Given the description of an element on the screen output the (x, y) to click on. 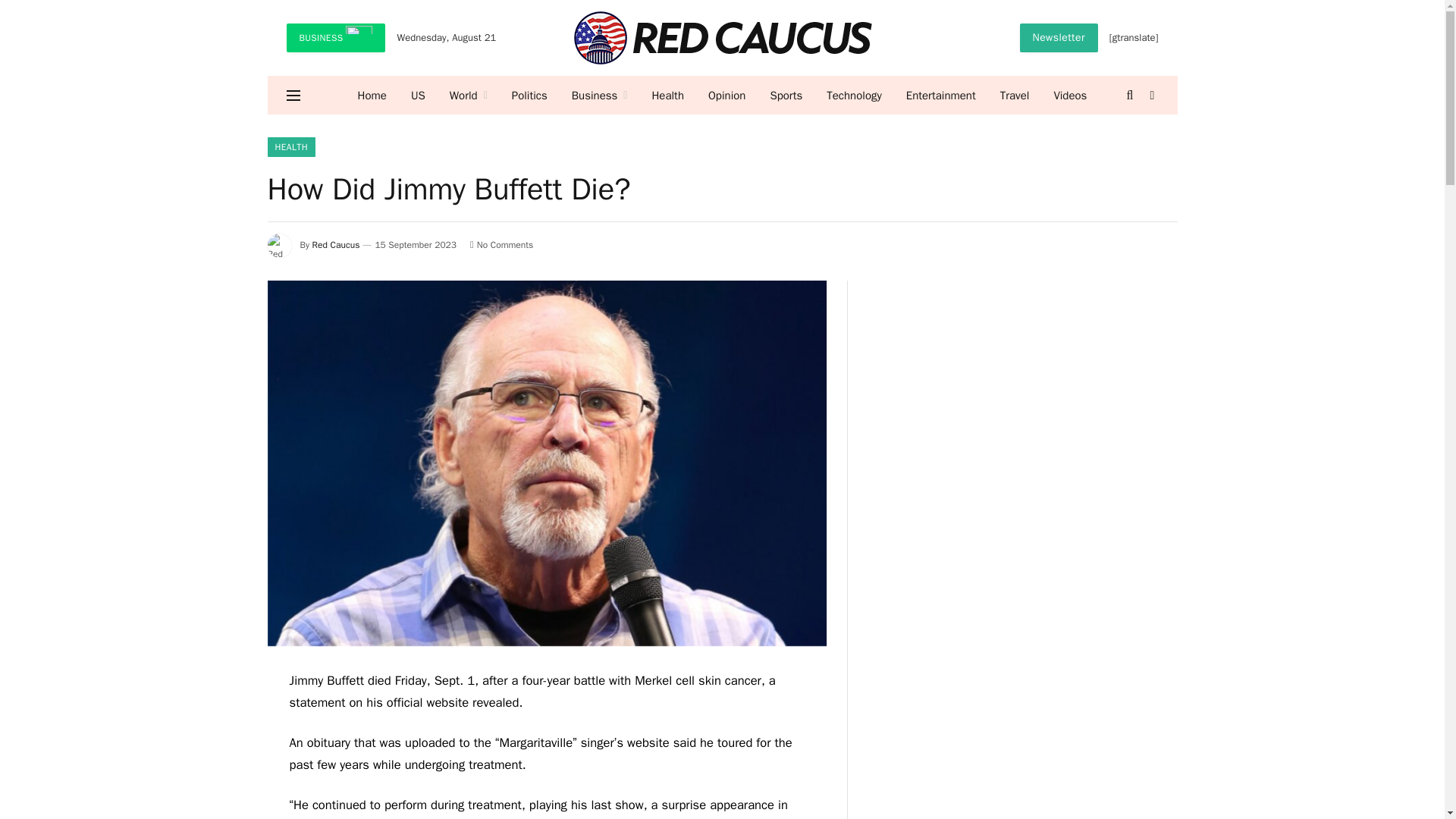
Posts by Red Caucus (336, 244)
Politics (529, 95)
Newsletter (1058, 37)
Red Caucus (722, 38)
World (468, 95)
Home (372, 95)
BUSINESS (335, 37)
Switch to Dark Design - easier on eyes. (1150, 95)
US (418, 95)
